Given the description of an element on the screen output the (x, y) to click on. 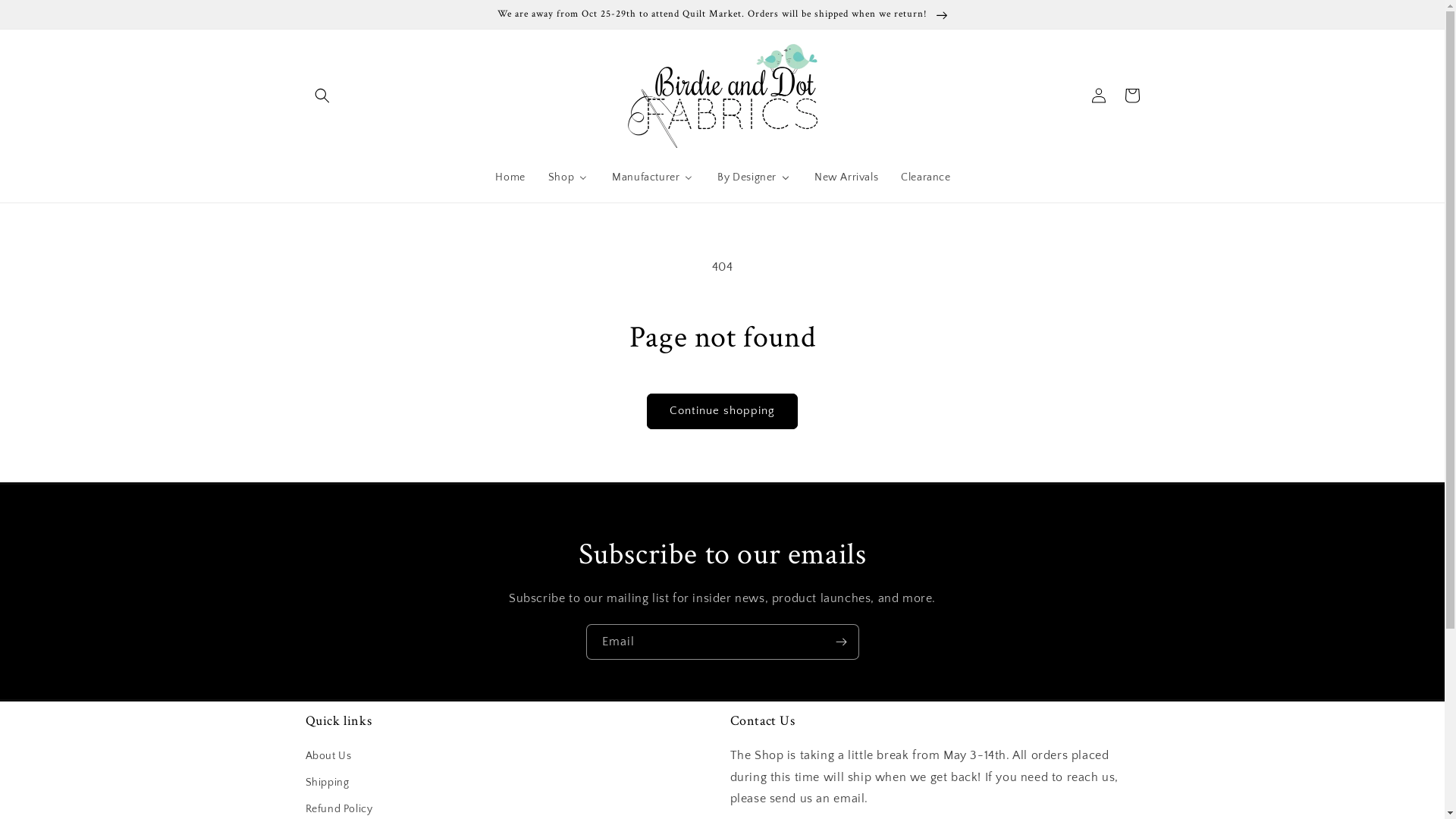
Shop Element type: text (567, 177)
Home Element type: text (509, 177)
Manufacturer Element type: text (652, 177)
Continue shopping Element type: text (721, 411)
Log in Element type: text (1097, 95)
New Arrivals Element type: text (845, 177)
Cart Element type: text (1131, 95)
By Designer Element type: text (753, 177)
About Us Element type: text (327, 757)
Clearance Element type: text (924, 177)
Shipping Element type: text (326, 782)
